Given the description of an element on the screen output the (x, y) to click on. 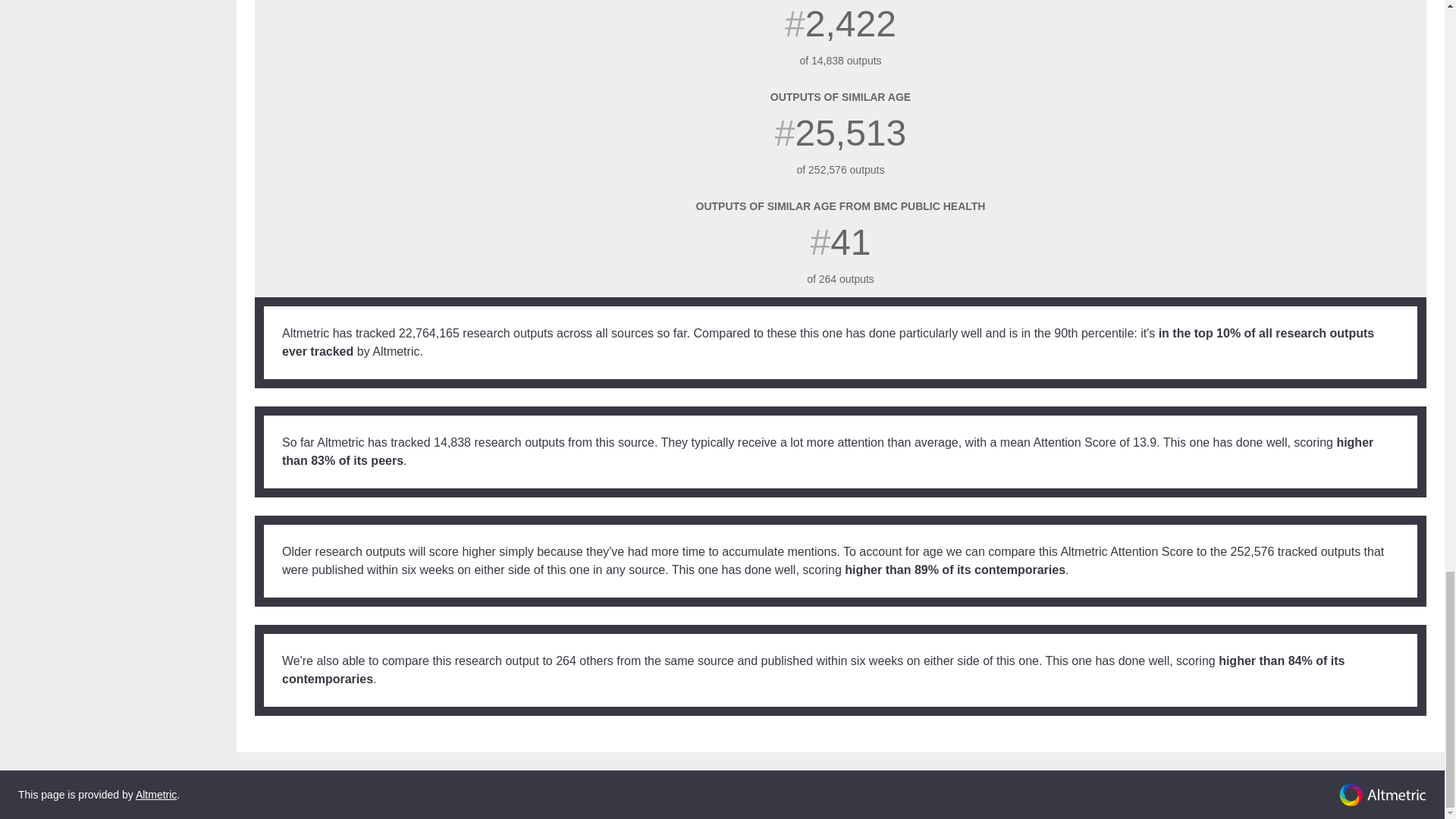
Altmetric (1382, 794)
Altmetric (155, 794)
